Given the description of an element on the screen output the (x, y) to click on. 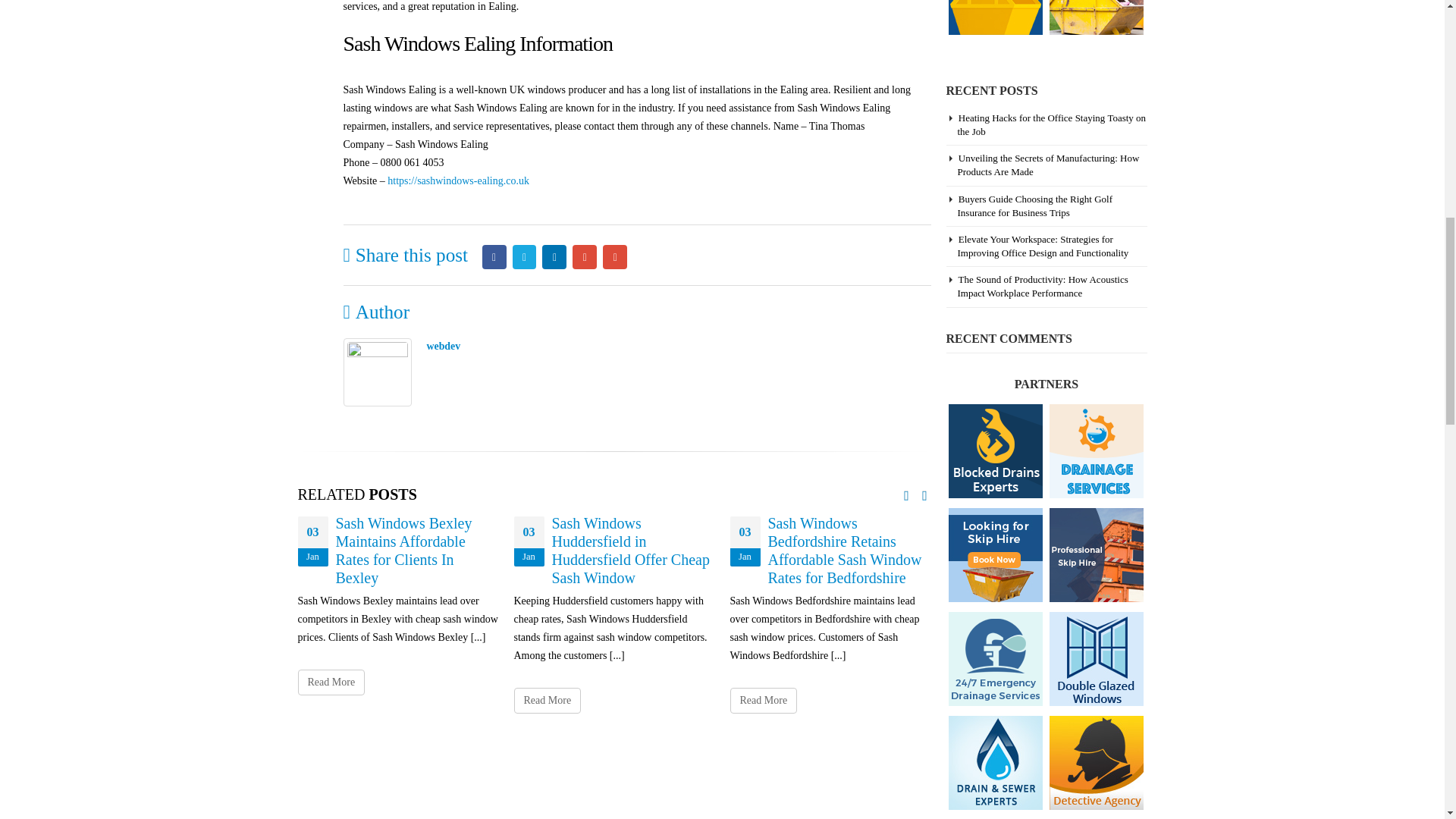
LinkedIn (553, 256)
Email (614, 256)
Twitter (524, 256)
Posts by webdev (443, 346)
Facebook (493, 256)
webdev (443, 346)
